Given the description of an element on the screen output the (x, y) to click on. 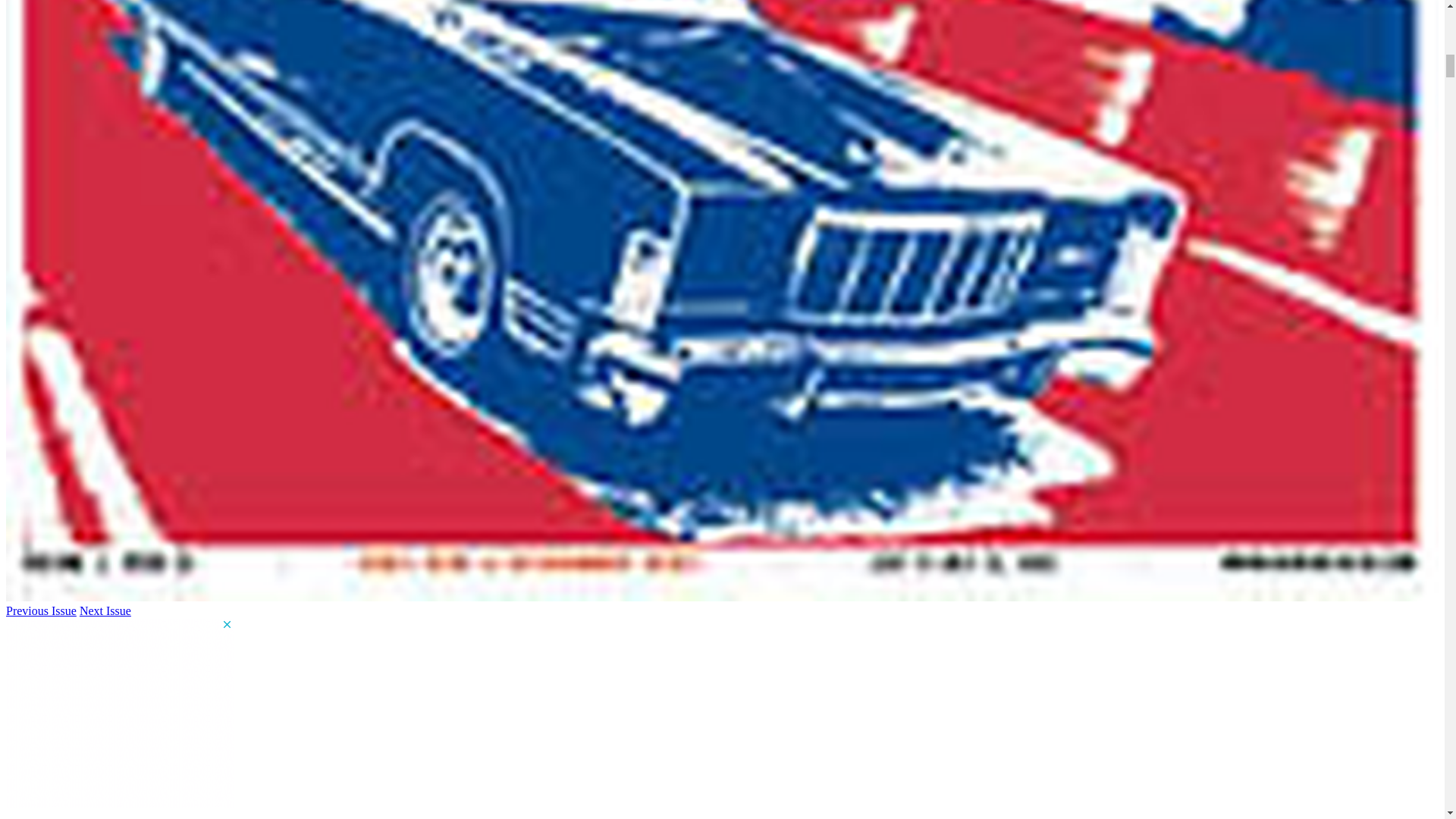
Next Issue (105, 610)
3rd party ad content (118, 712)
Previous Issue (41, 610)
